Given the description of an element on the screen output the (x, y) to click on. 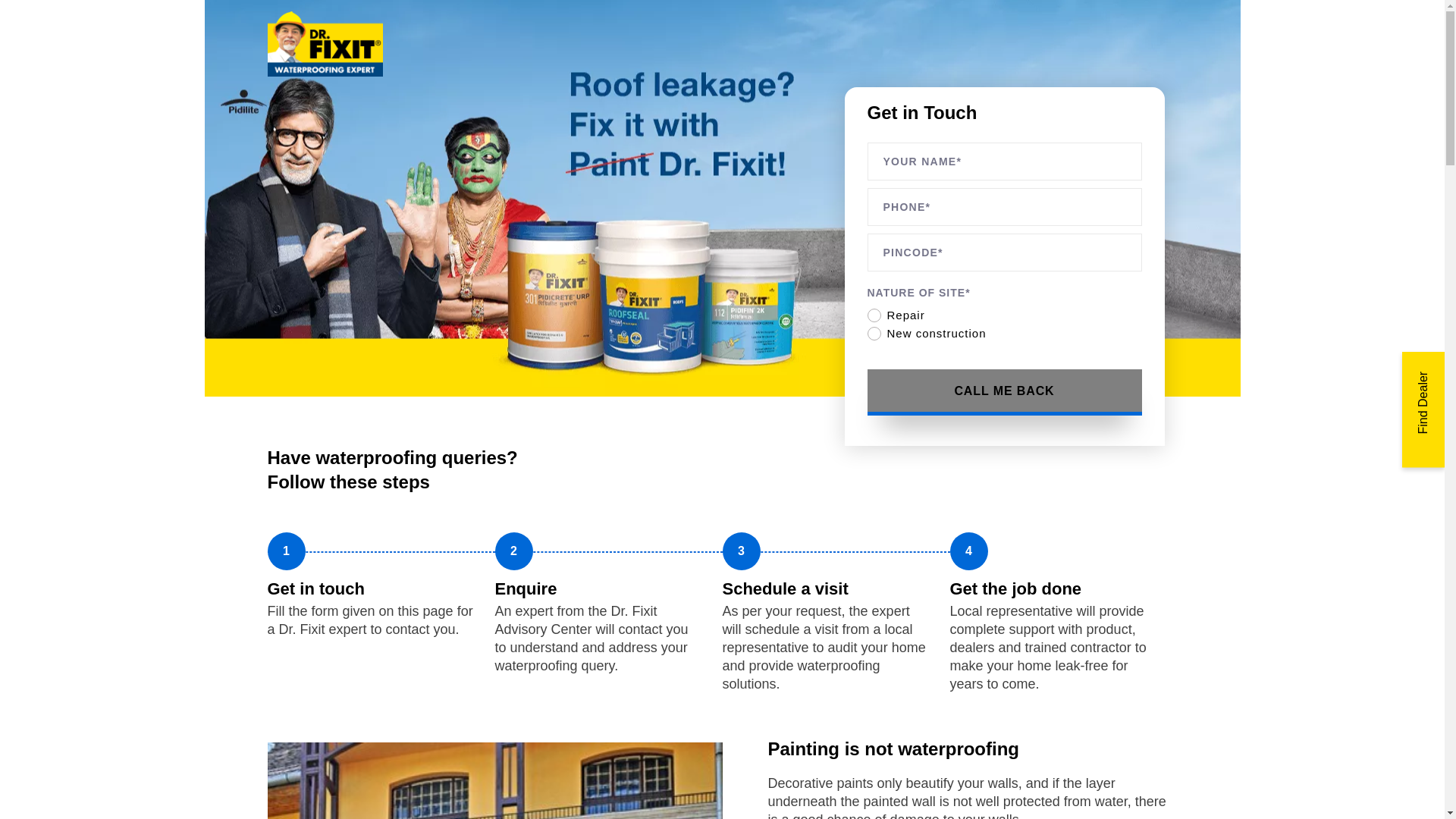
CALL ME BACK (1004, 492)
